Given the description of an element on the screen output the (x, y) to click on. 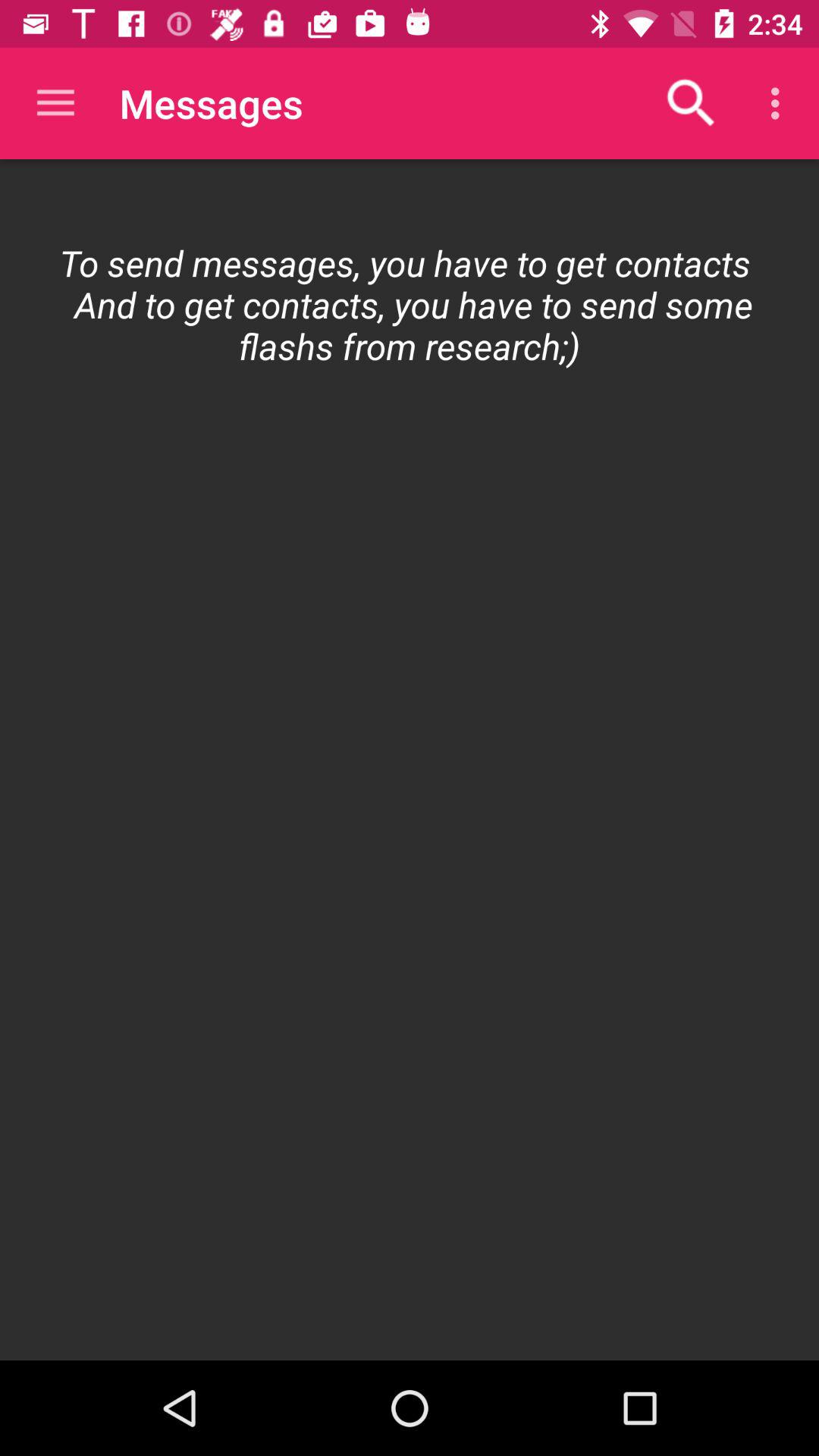
tap icon above the to send messages icon (55, 103)
